Given the description of an element on the screen output the (x, y) to click on. 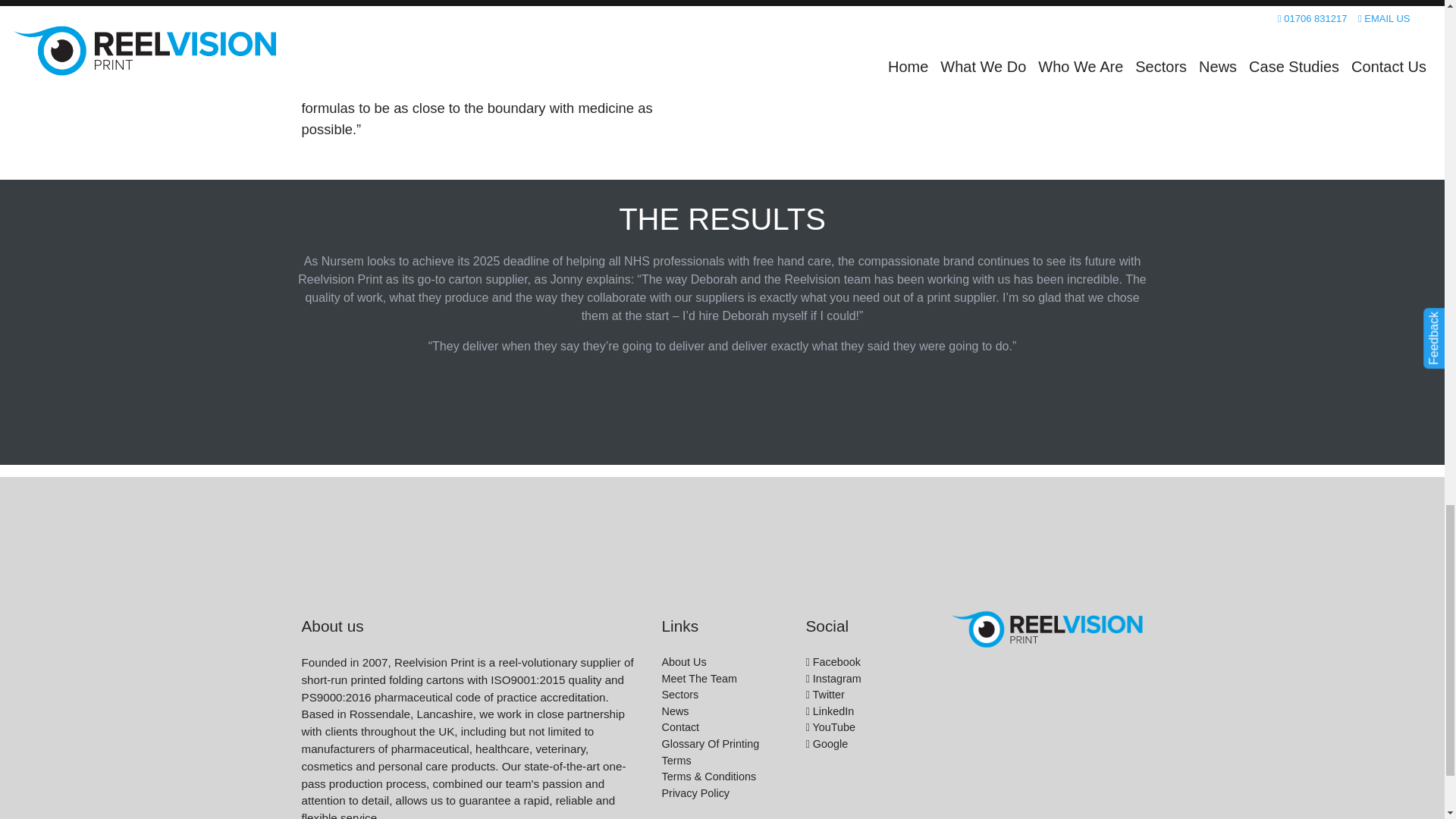
Facebook (832, 662)
Glossary Of Printing Terms (709, 751)
Google (826, 743)
Meet The Team (698, 678)
Privacy Policy (695, 793)
Meet The Team (698, 678)
Glossary Of Printing Terms (709, 751)
Privacy Policy (695, 793)
Nursem (937, 16)
News (674, 711)
Instagram (832, 678)
Sectors (679, 694)
Contact (679, 727)
Contact (679, 727)
YouTube (830, 727)
